Given the description of an element on the screen output the (x, y) to click on. 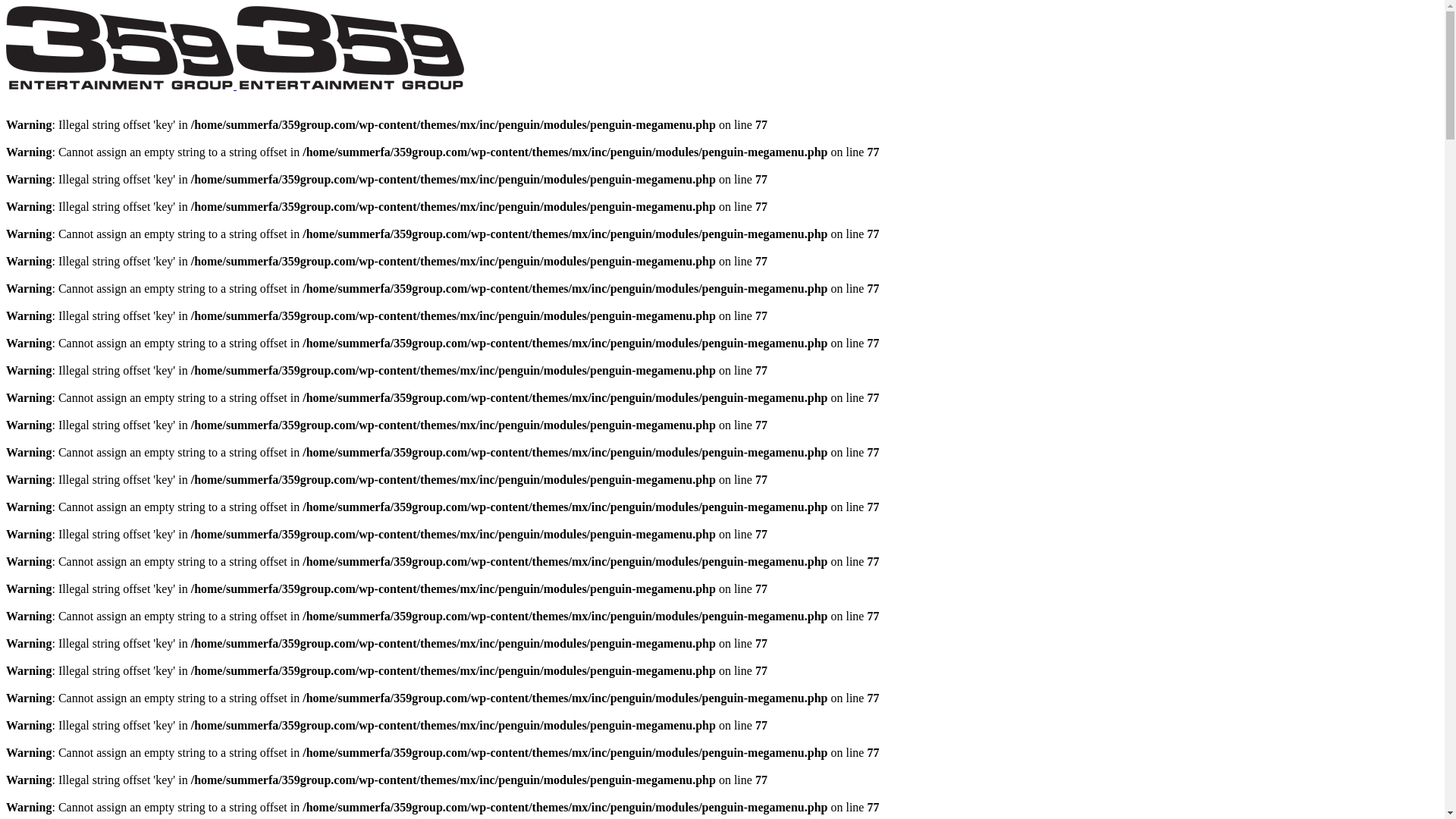
359 Entertainment Group Element type: hover (235, 84)
